Given the description of an element on the screen output the (x, y) to click on. 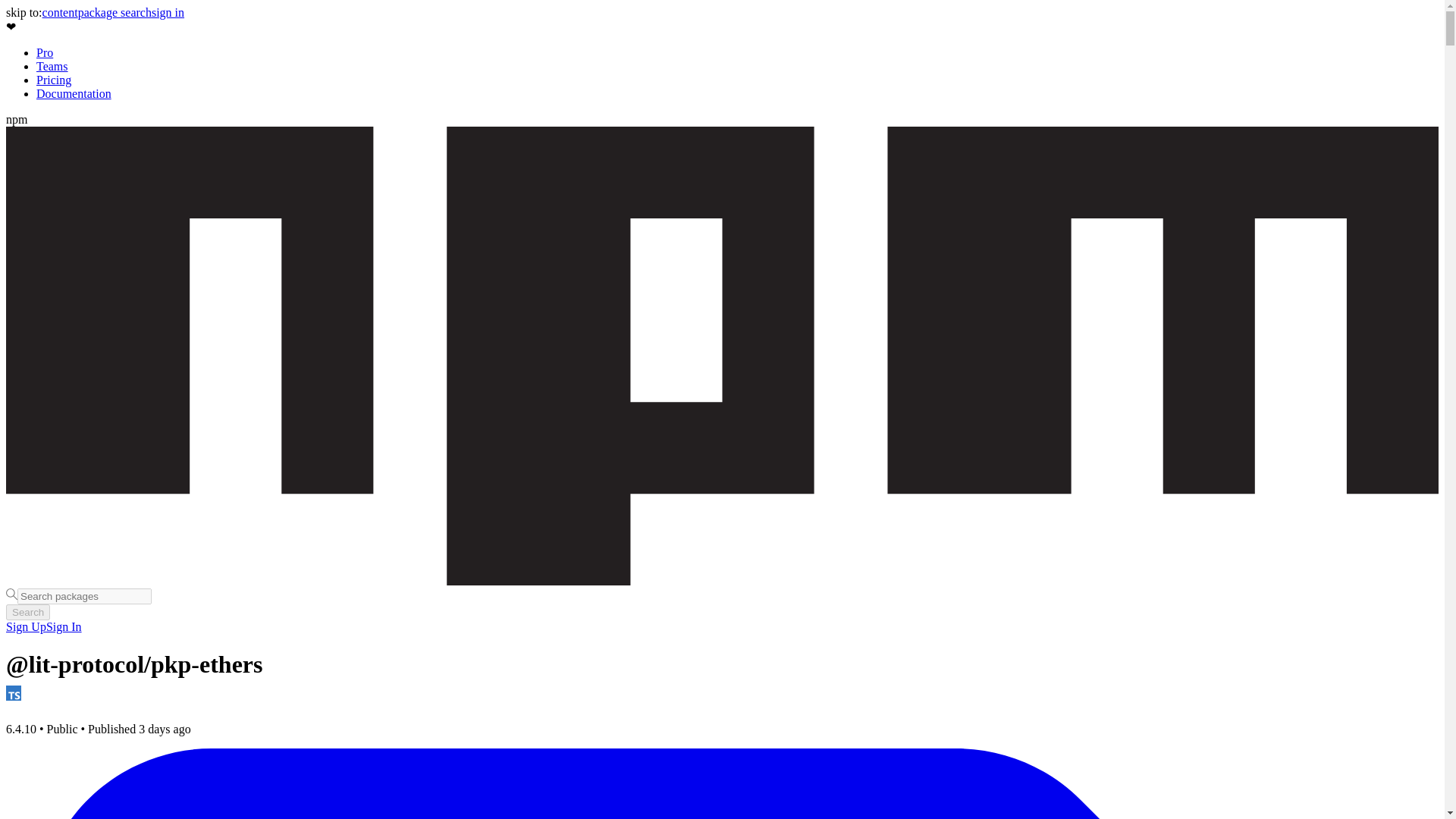
Search (27, 611)
sign in (167, 11)
content (60, 11)
Pricing (53, 79)
package search (114, 11)
Documentation (74, 92)
This package contains built-in TypeScript declarations (13, 693)
Pro (44, 51)
Sign Up (25, 626)
Teams (52, 65)
